Given the description of an element on the screen output the (x, y) to click on. 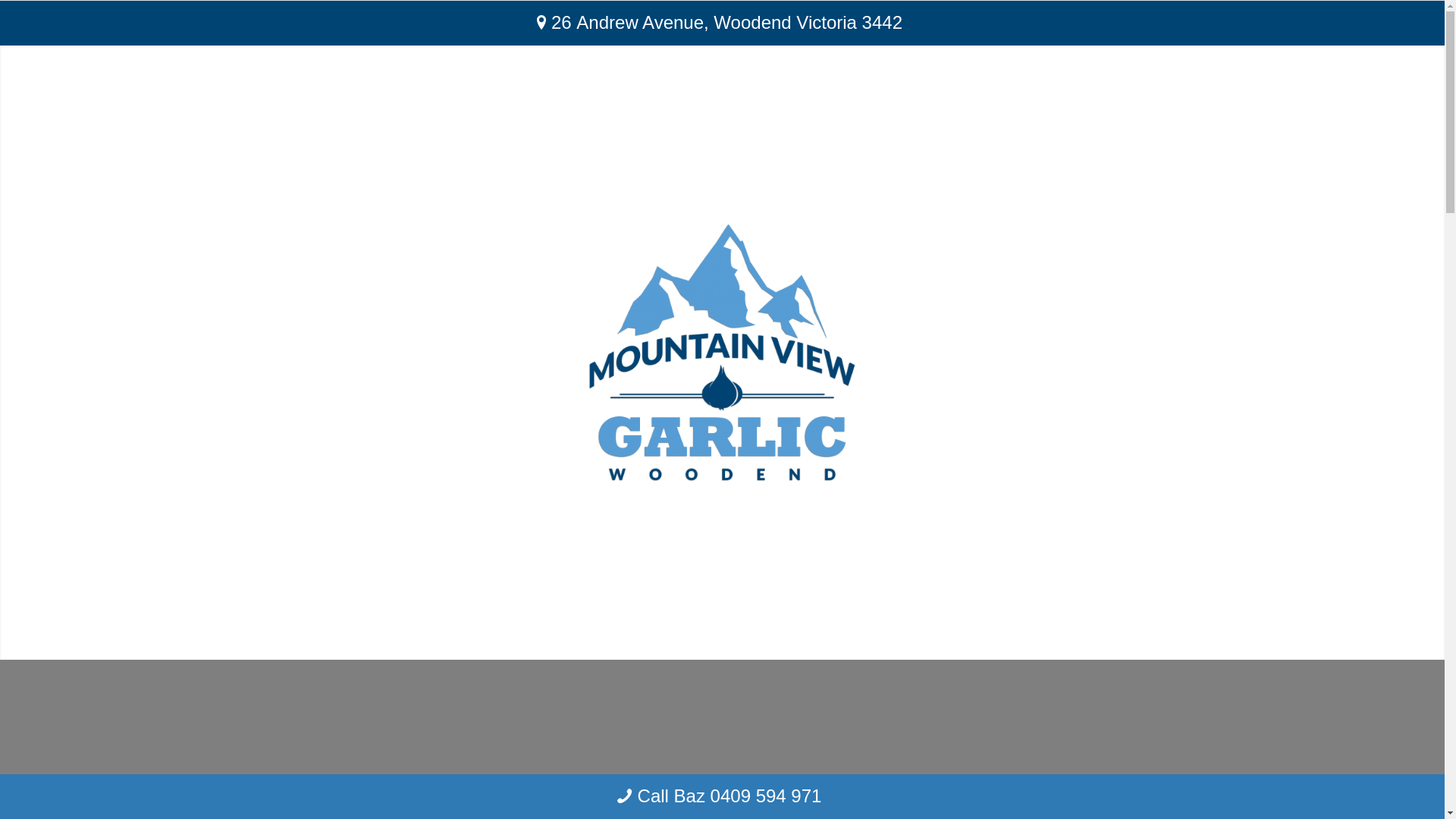
26 Andrew Avenue, Woodend Victoria 3442 Element type: text (722, 22)
